Given the description of an element on the screen output the (x, y) to click on. 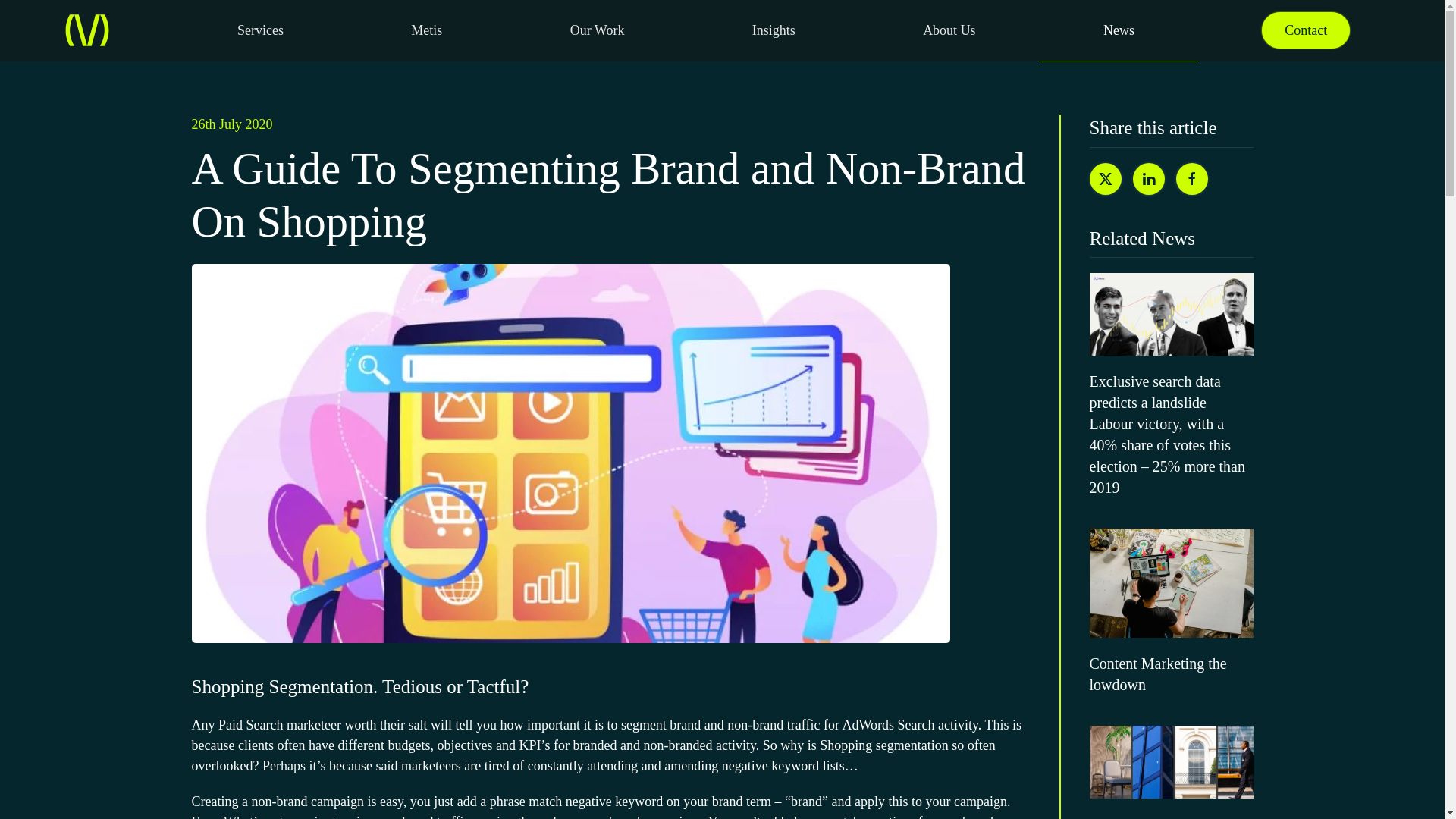
Metis (426, 30)
About Us (949, 30)
Contact (1305, 30)
Insights (773, 30)
Our Work (596, 30)
News (1117, 30)
Content Marketing the lowdown (1170, 611)
Services (259, 30)
